Given the description of an element on the screen output the (x, y) to click on. 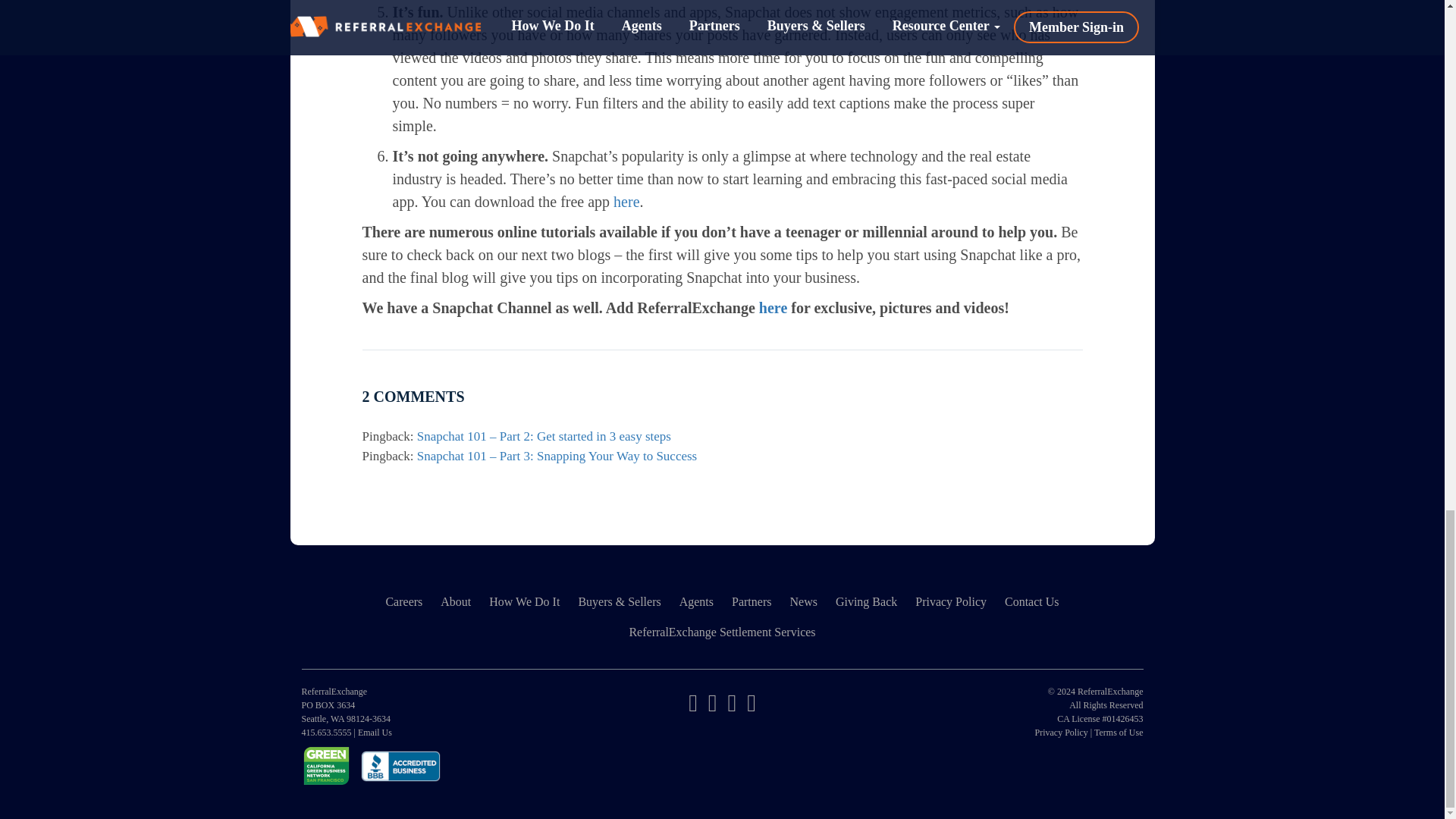
ReferralExchange Settlement Services (721, 632)
Privacy Policy (1060, 732)
here (772, 307)
Contact Us (1032, 602)
Email Us (374, 732)
415.653.5555 (326, 732)
News (802, 602)
Partners (750, 602)
Privacy Policy (950, 602)
How We Do It (524, 602)
